Given the description of an element on the screen output the (x, y) to click on. 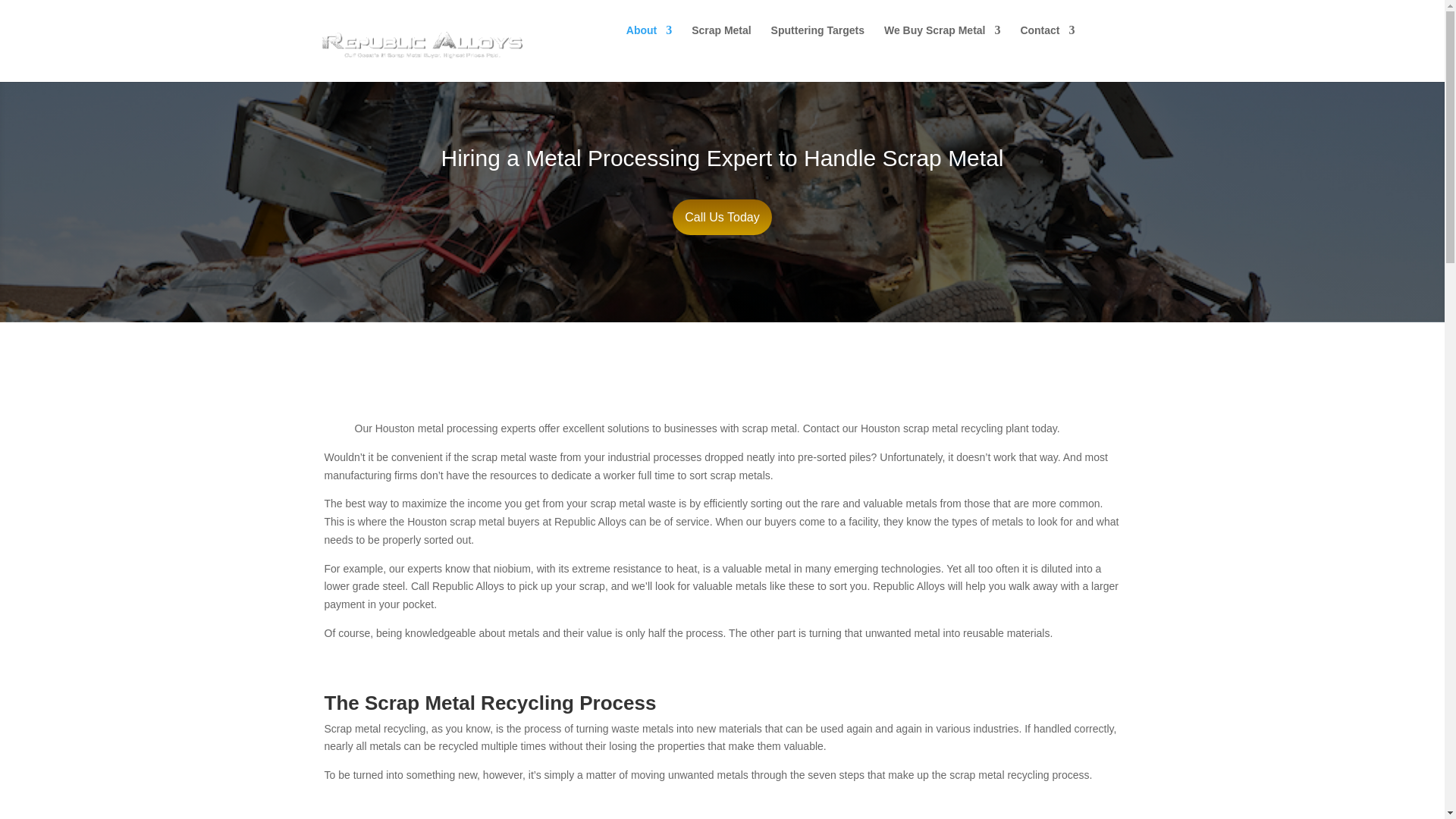
Sputtering Targets (817, 43)
About (648, 43)
Contact (1047, 43)
We Buy Scrap Metal (942, 43)
Call Us Today (721, 217)
Scrap Metal (721, 43)
